Given the description of an element on the screen output the (x, y) to click on. 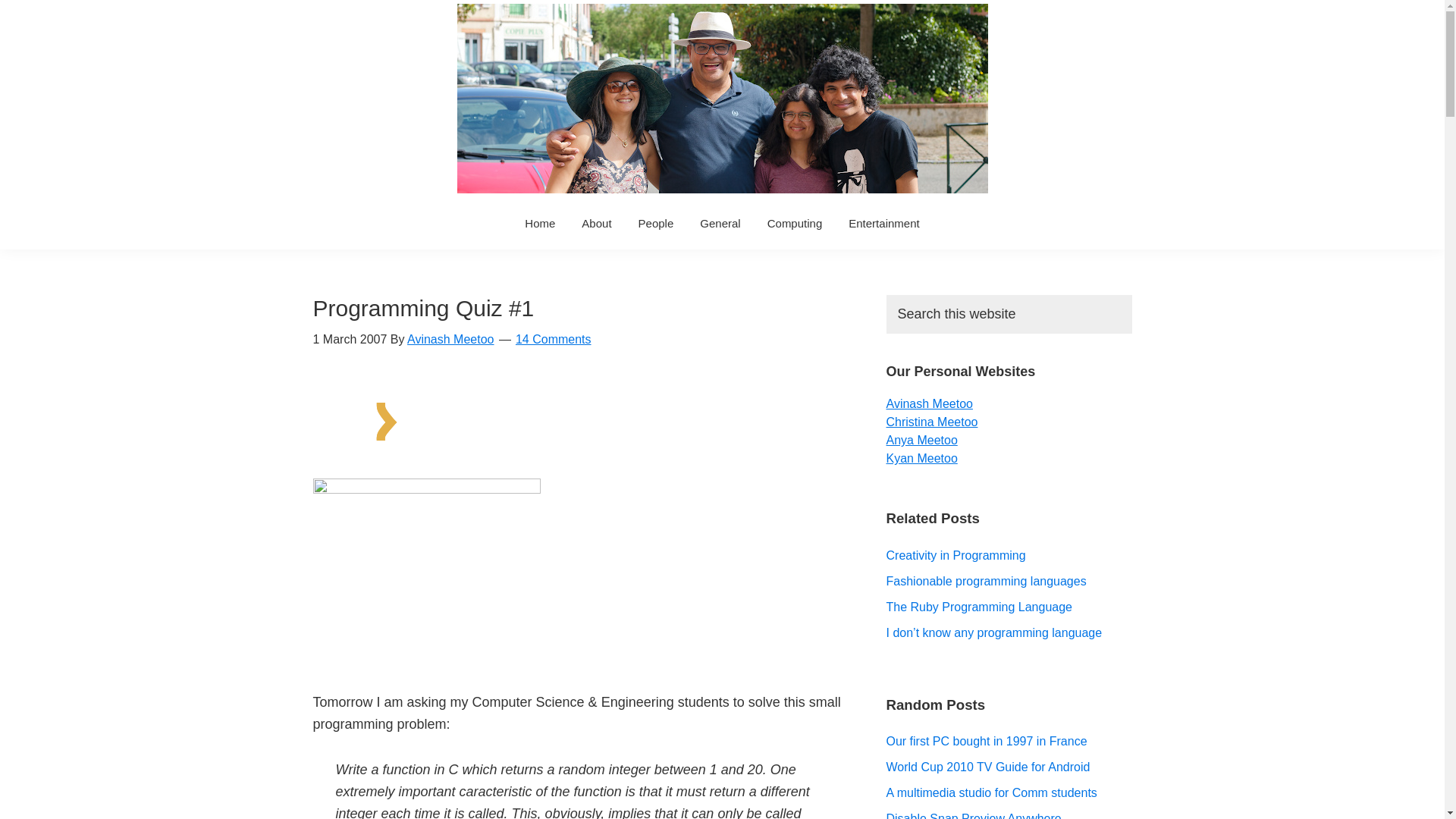
14 Comments (553, 338)
The Ruby Programming Language (978, 606)
Tweet this (619, 412)
Entertainment (883, 223)
Share this on Google Plus (690, 412)
Creativity in Programming (955, 554)
Share this on LinkedIn (719, 412)
Fashionable programming languages (985, 581)
